Given the description of an element on the screen output the (x, y) to click on. 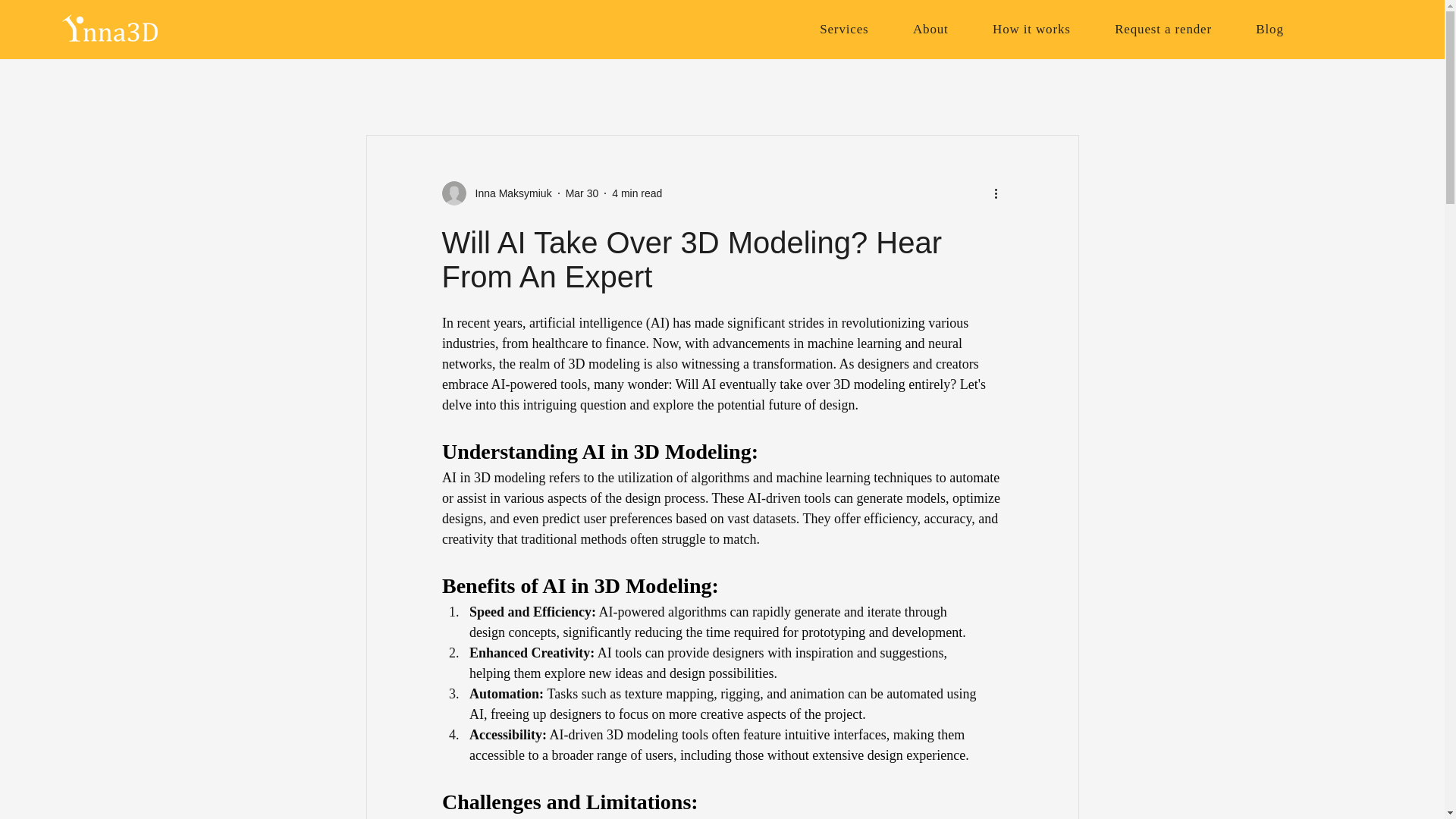
Mar 30 (582, 192)
About (930, 29)
Inna Maksymiuk (508, 192)
How it works (1031, 29)
Request a render (1163, 29)
Blog (1269, 29)
4 min read (1051, 29)
